Given the description of an element on the screen output the (x, y) to click on. 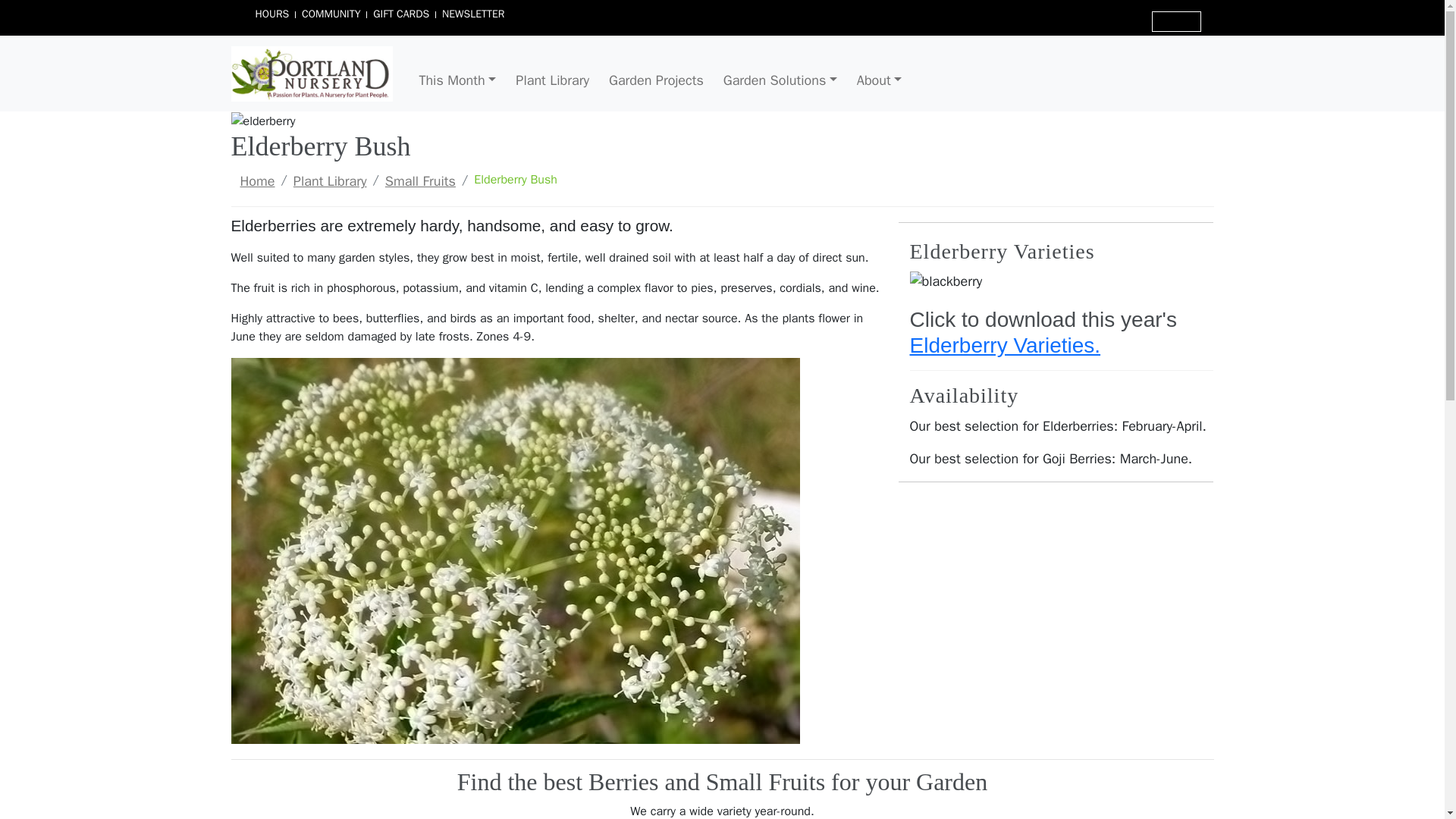
Small Fruits (420, 180)
elderberry (262, 121)
Garden Projects (656, 80)
GIFT CARDS (400, 13)
COMMUNITY (331, 13)
Elderberry Varieties. (1005, 345)
NEWSLETTER (473, 13)
Plant Library (552, 80)
About (879, 80)
This Month (457, 80)
